Given the description of an element on the screen output the (x, y) to click on. 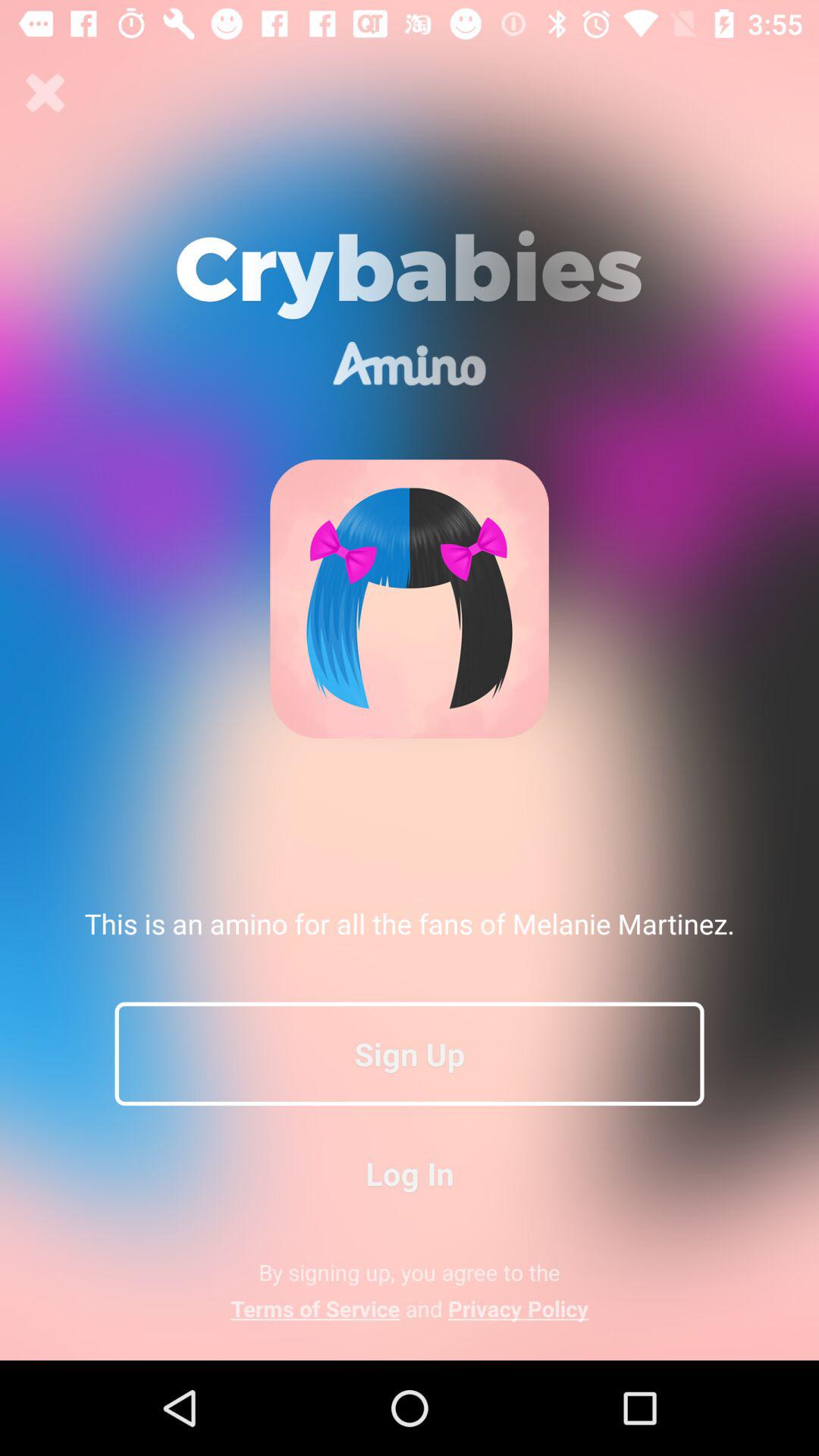
swipe until log in item (409, 1173)
